Given the description of an element on the screen output the (x, y) to click on. 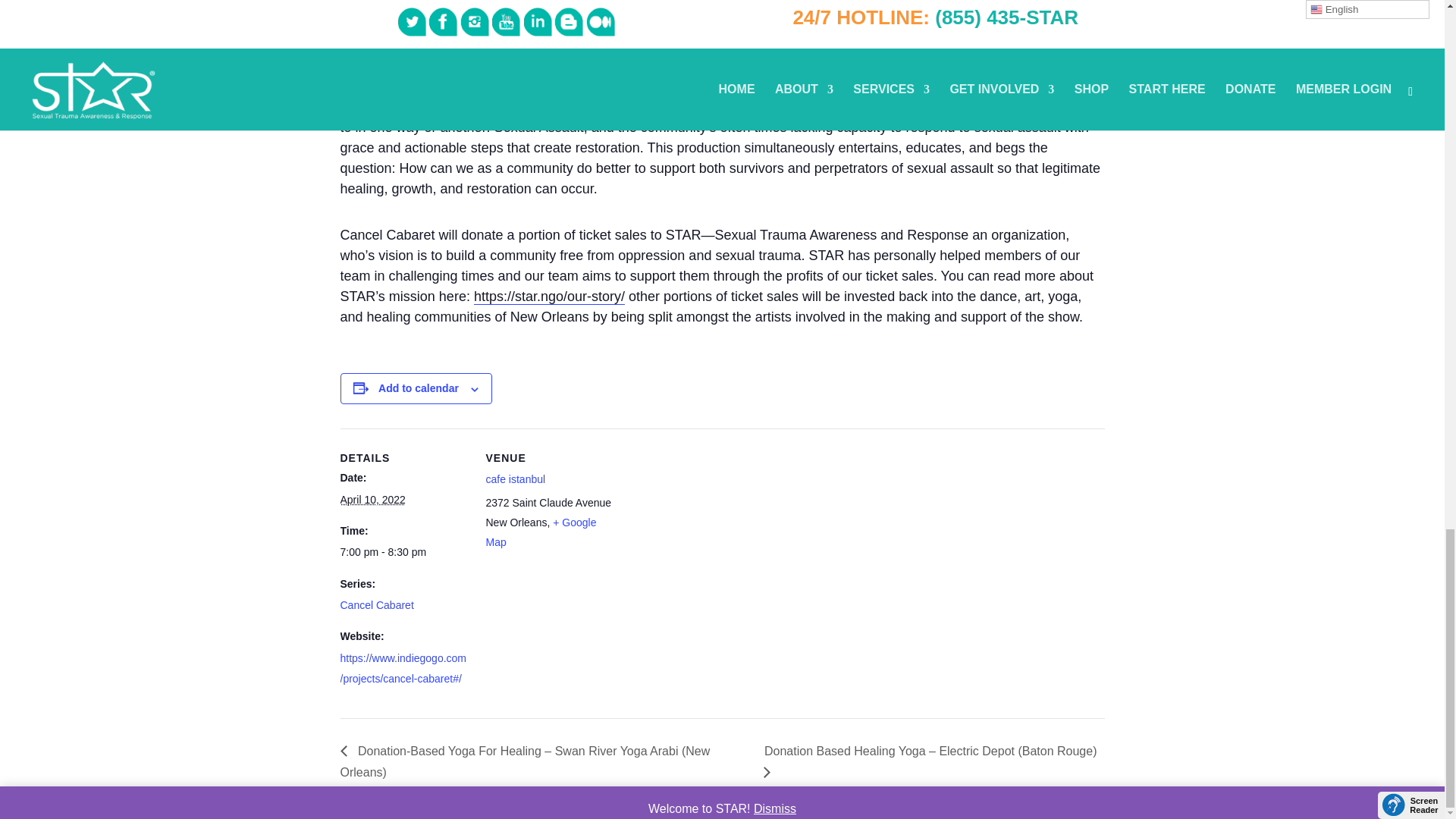
Google maps iframe displaying the address to cafe istanbul (710, 533)
Cancel Cabaret (376, 604)
Click to view a Google Map (539, 531)
2022-04-10 (371, 499)
2022-04-10 (403, 552)
